Given the description of an element on the screen output the (x, y) to click on. 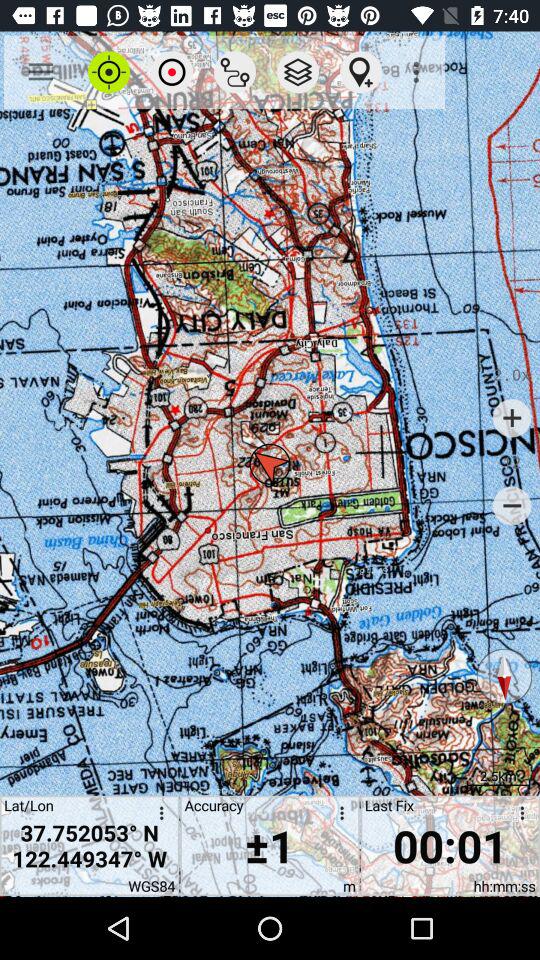
select the item above the lat/lon app (40, 72)
